Given the description of an element on the screen output the (x, y) to click on. 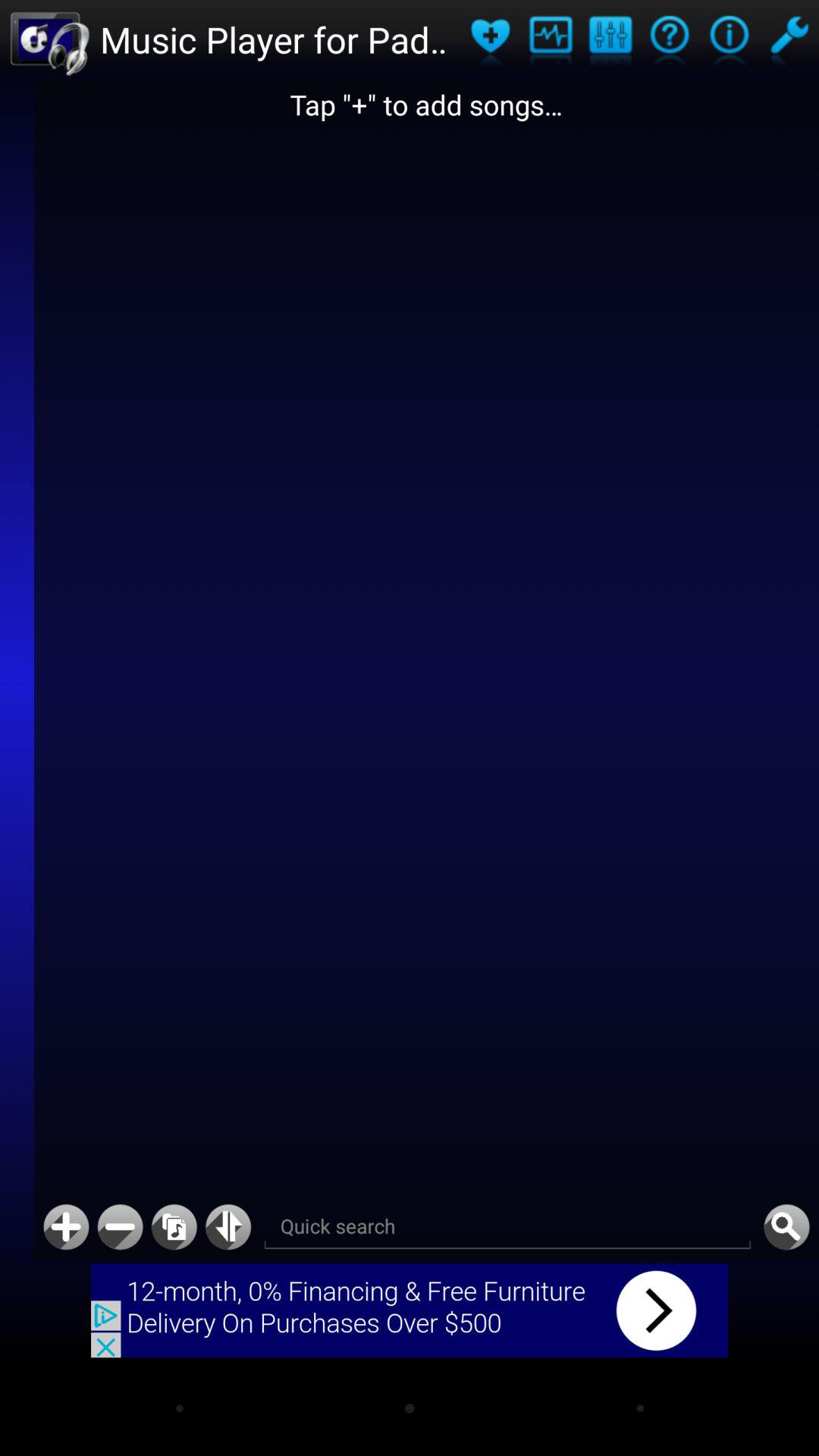
add music (174, 1226)
